Given the description of an element on the screen output the (x, y) to click on. 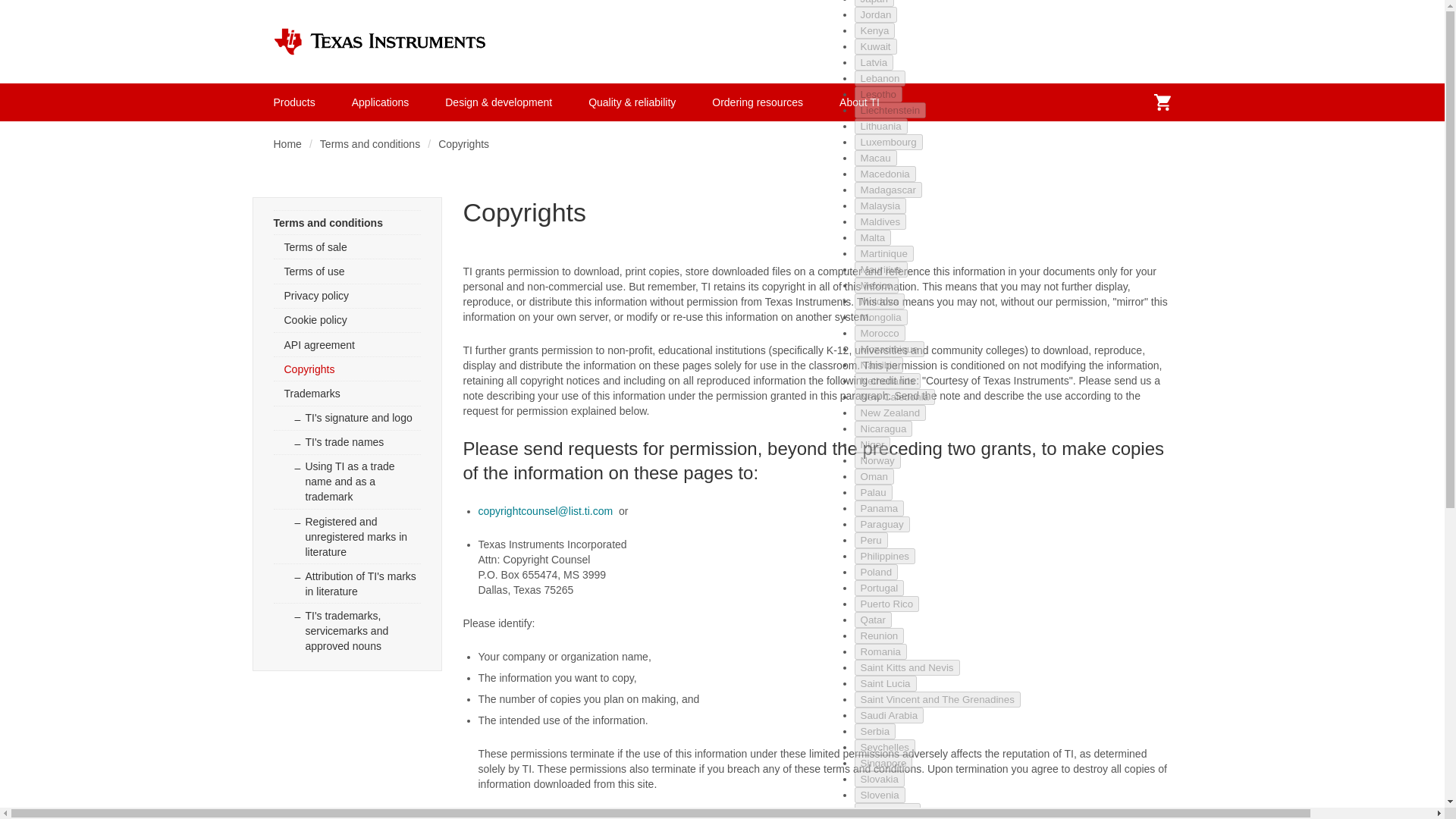
TI's trademarks, servicemarks and approved nouns (346, 629)
Applications (380, 102)
Ordering resources (757, 102)
Privacy policy (346, 295)
Cookie policy (346, 319)
Terms and conditions (370, 143)
Copyrights (346, 368)
Registered and unregistered marks in literature (346, 535)
My cart (1161, 102)
About TI (859, 102)
TI's signature and logo (346, 416)
API agreement (346, 344)
Terms and conditions (346, 221)
Attribution of TI's marks in literature (346, 582)
Terms of use (346, 270)
